Given the description of an element on the screen output the (x, y) to click on. 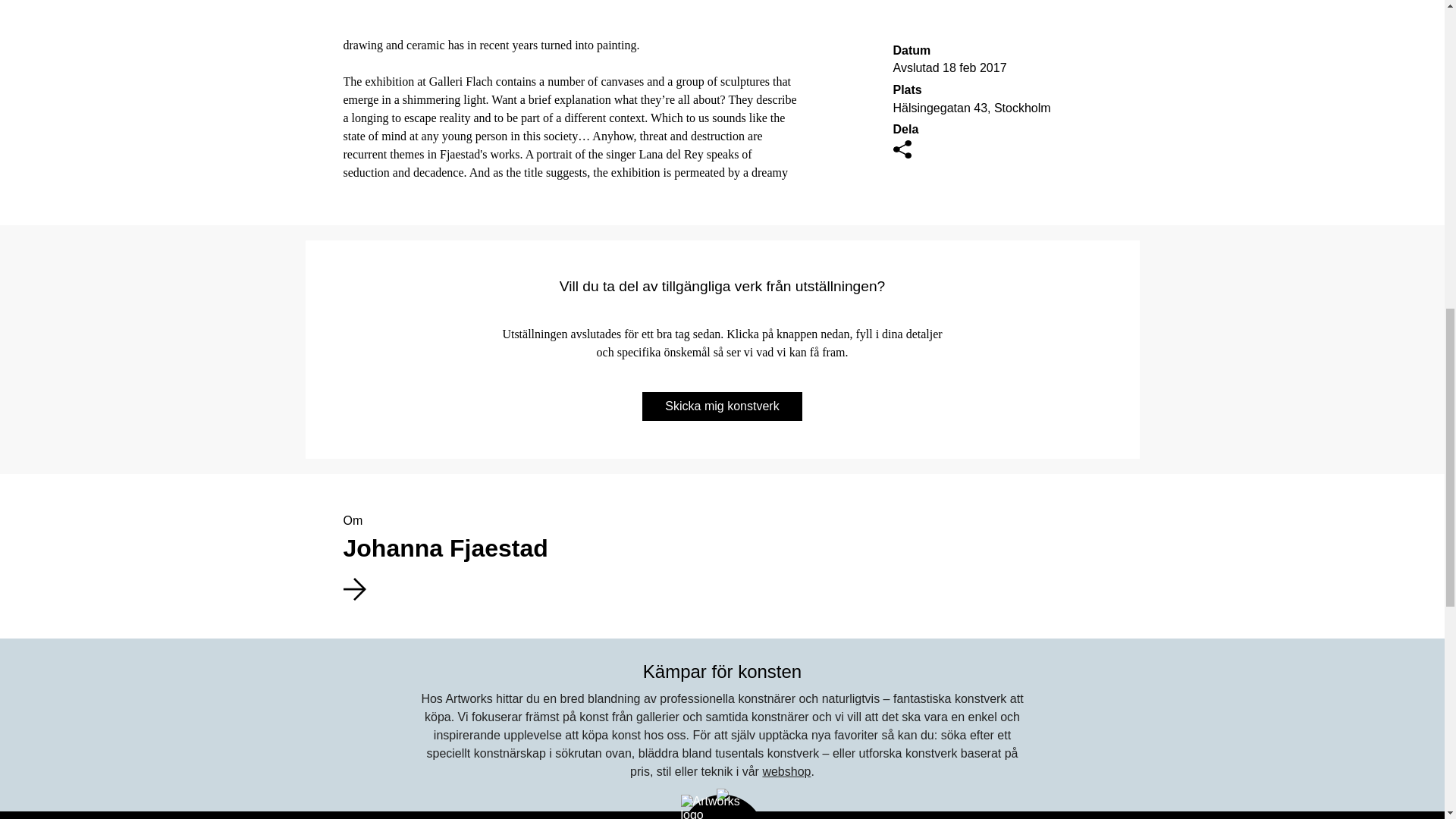
Skicka mig konstverk (721, 574)
webshop (722, 406)
Galleri Flach (785, 771)
